Given the description of an element on the screen output the (x, y) to click on. 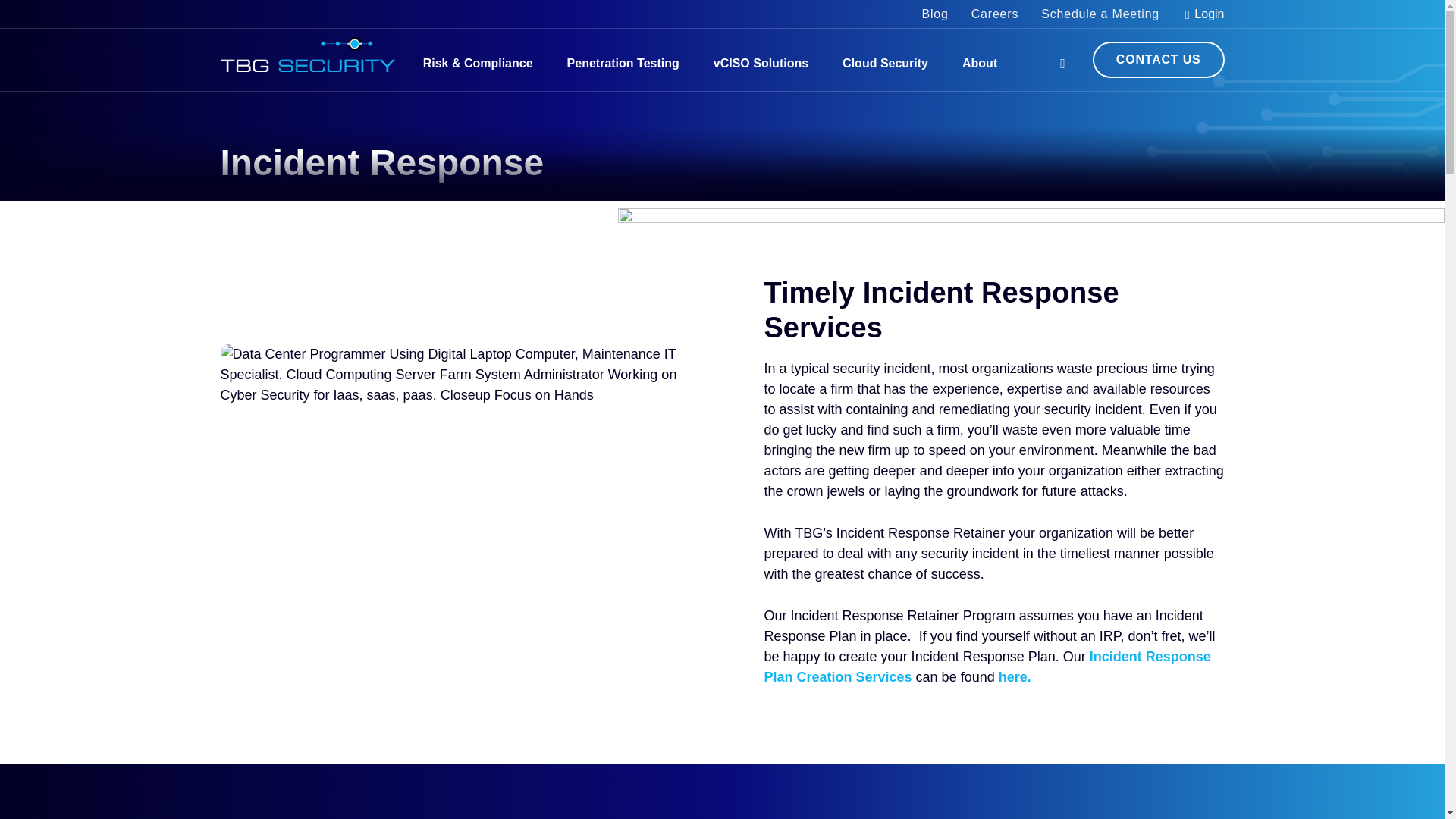
Blog (934, 13)
Login (1203, 13)
Careers (994, 13)
Schedule a Meeting (1099, 13)
CONTACT US (1158, 59)
